Given the description of an element on the screen output the (x, y) to click on. 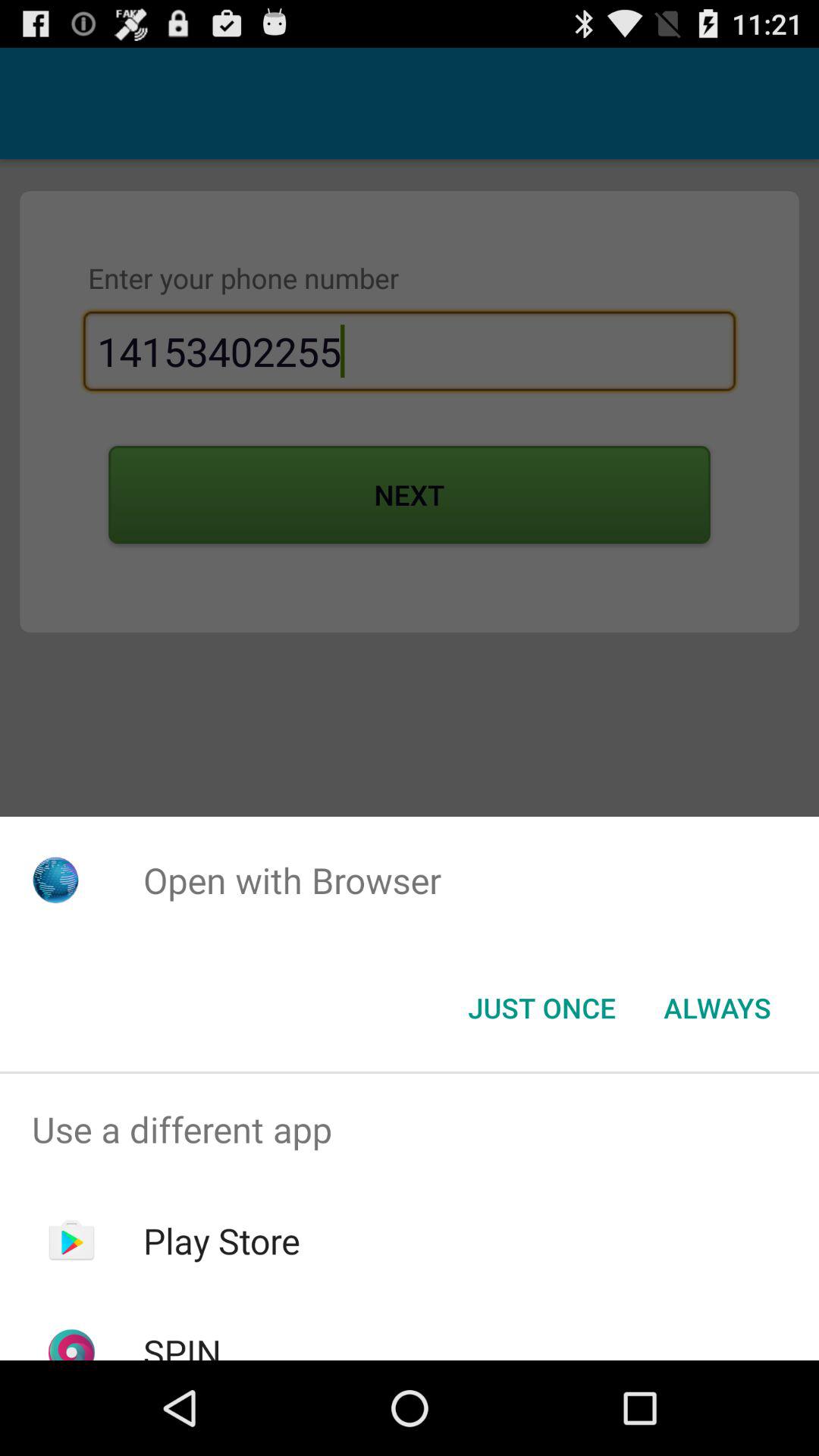
launch app above play store item (409, 1129)
